Given the description of an element on the screen output the (x, y) to click on. 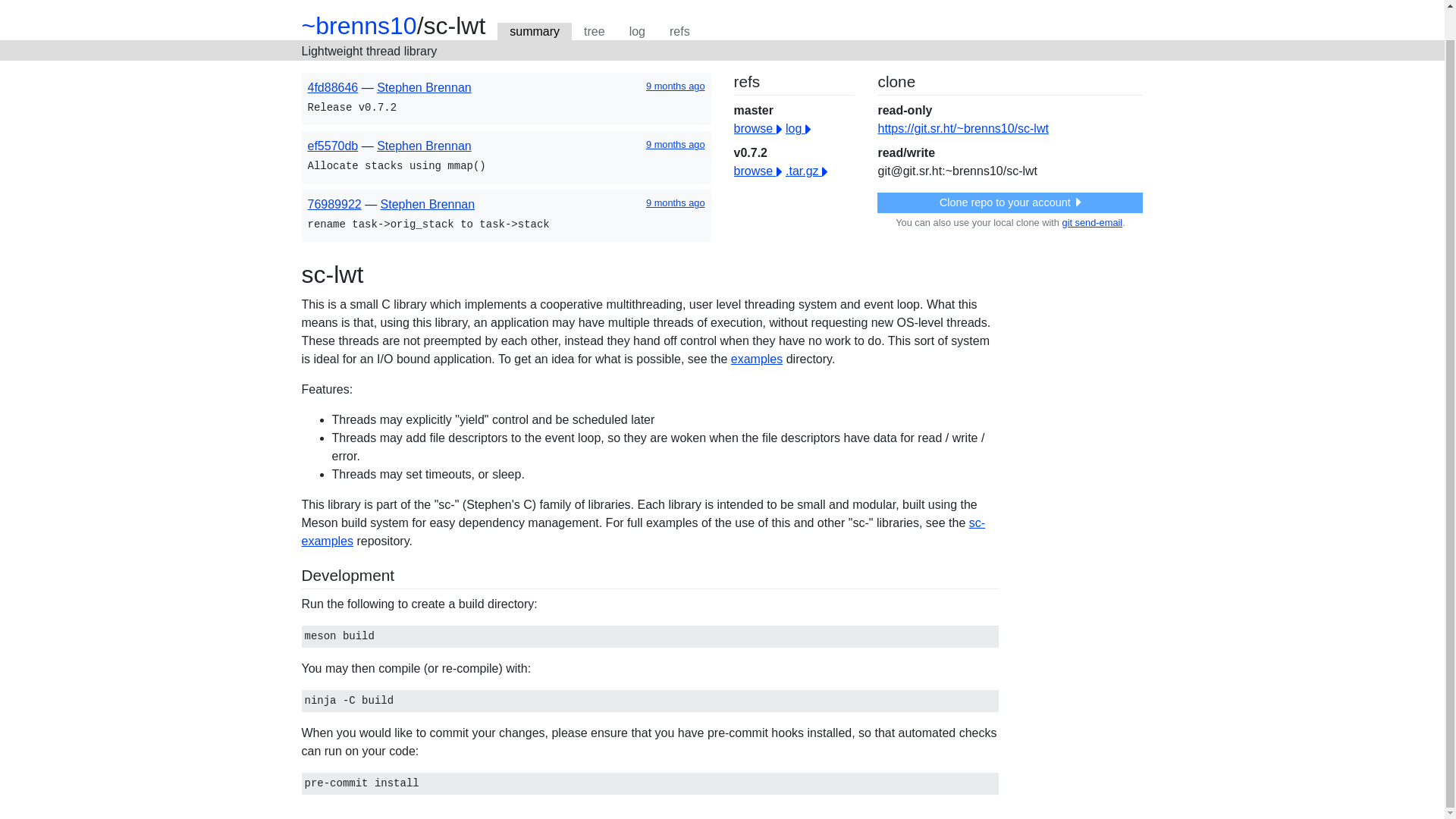
ef5570db (332, 145)
ef5570db4f20909f17d4a4b934c6f37853037049 (332, 145)
log (637, 31)
9 months ago (675, 143)
2023-11-16 06:10:22 UTC (675, 202)
browse  (758, 170)
tree (594, 31)
2023-11-16 06:17:11 UTC (675, 143)
76989922613bbe0e371f43762996901664069a2d (334, 204)
9 months ago (675, 85)
